Given the description of an element on the screen output the (x, y) to click on. 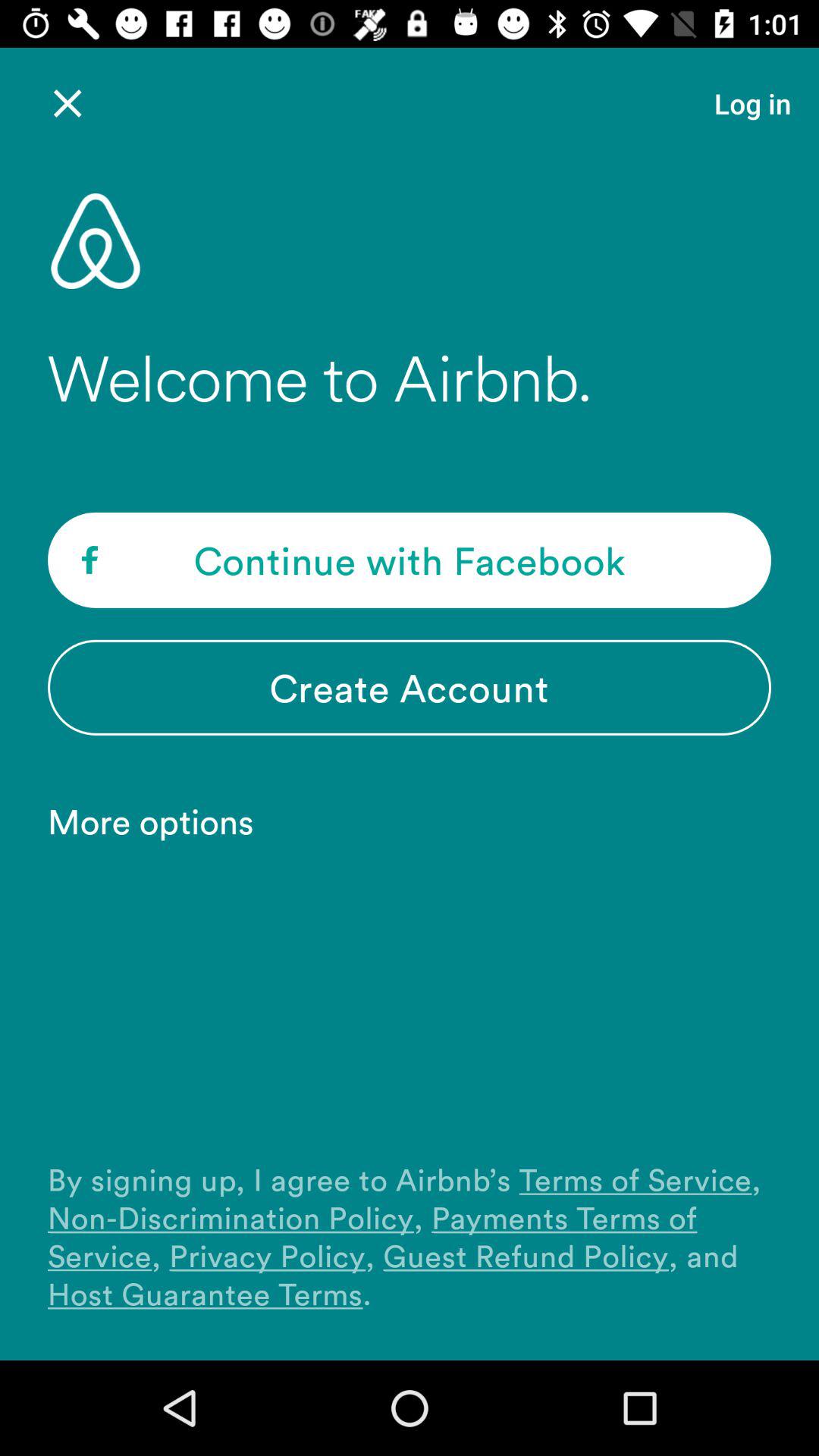
scroll until log in icon (752, 103)
